Given the description of an element on the screen output the (x, y) to click on. 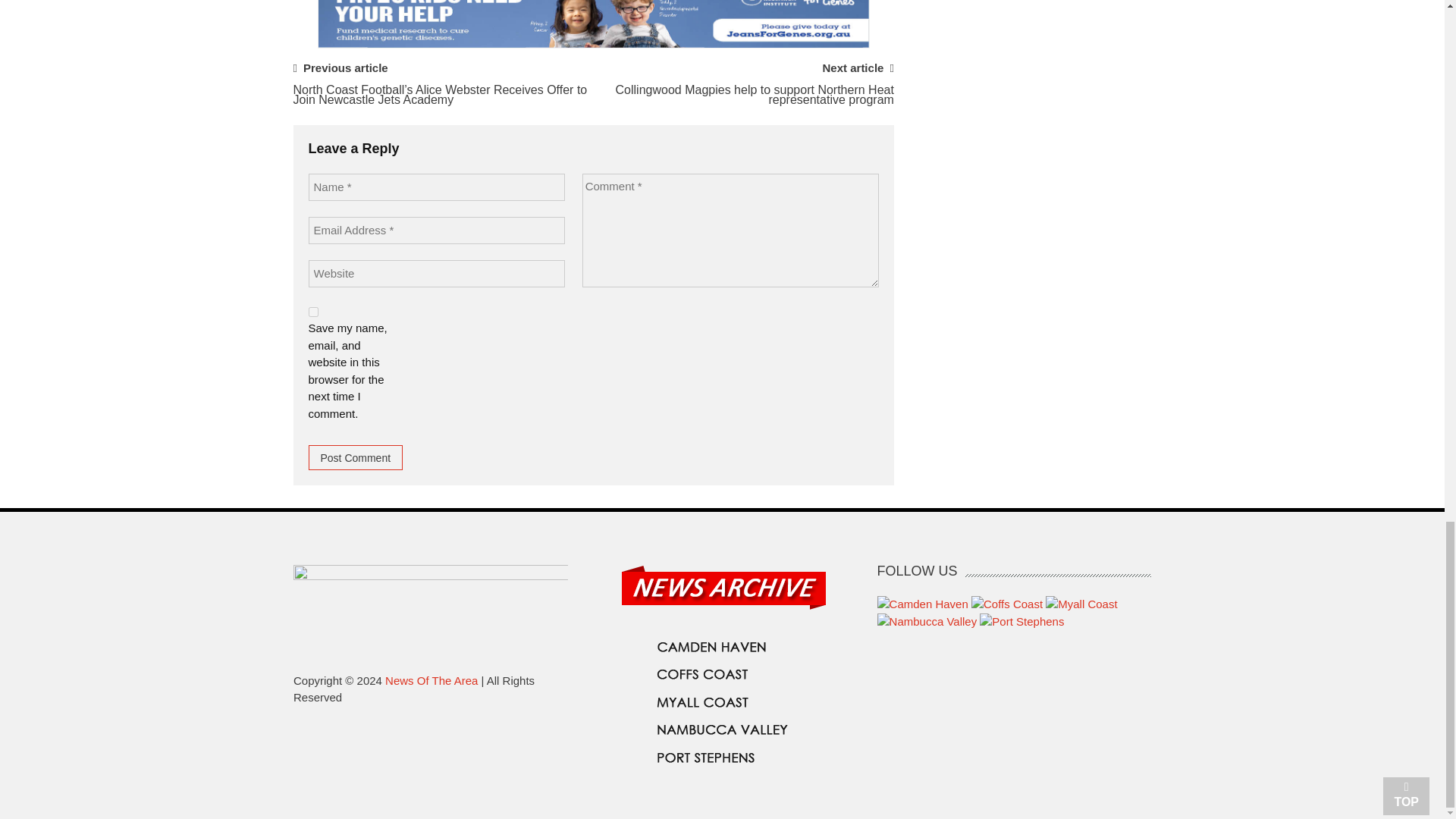
yes (312, 311)
Post Comment (355, 457)
